Given the description of an element on the screen output the (x, y) to click on. 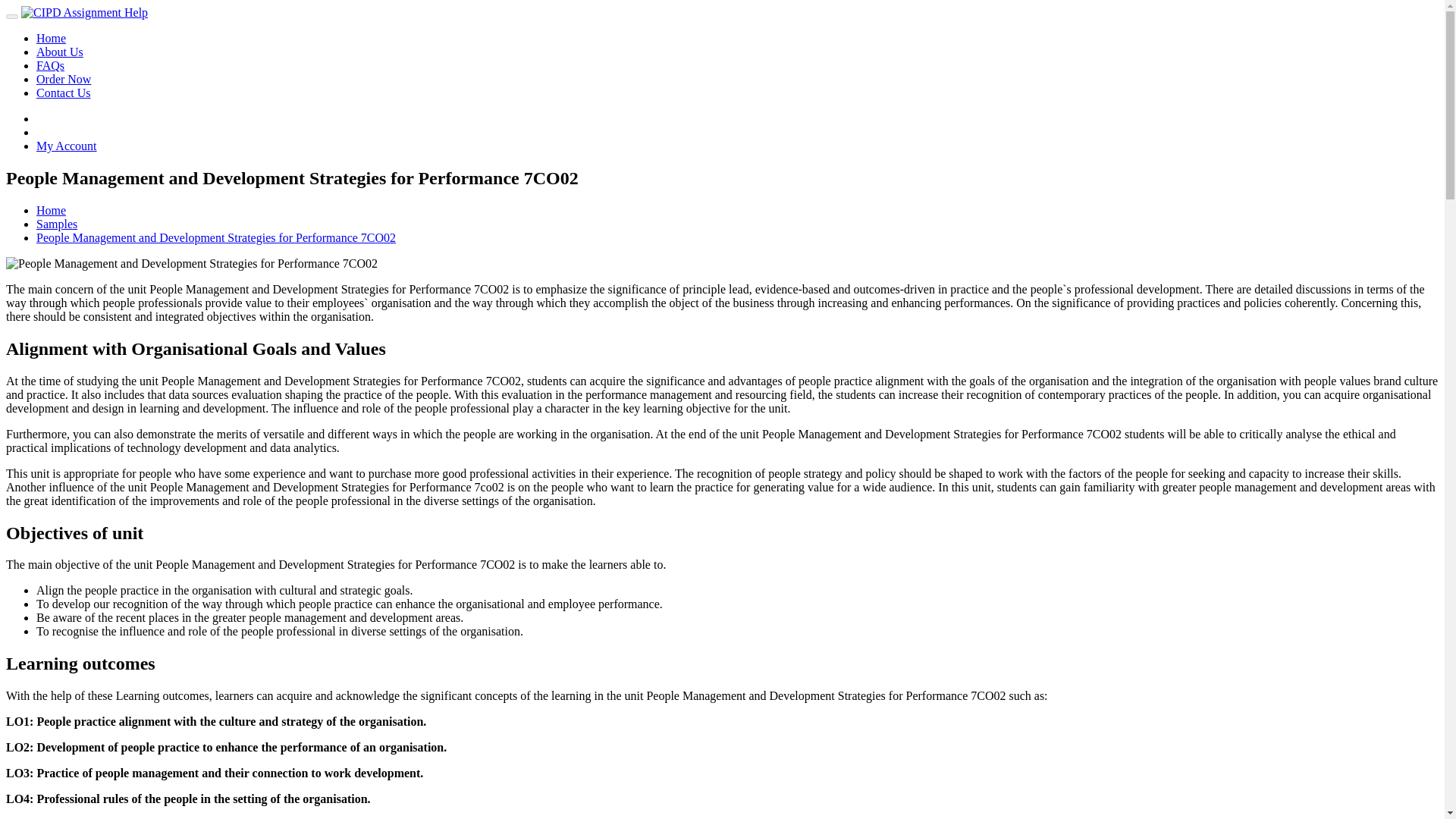
About Us (59, 51)
Home (50, 210)
Home (50, 38)
Samples (56, 223)
Order Now (63, 78)
My Account (66, 145)
Contact Us (63, 92)
FAQs (50, 65)
